Given the description of an element on the screen output the (x, y) to click on. 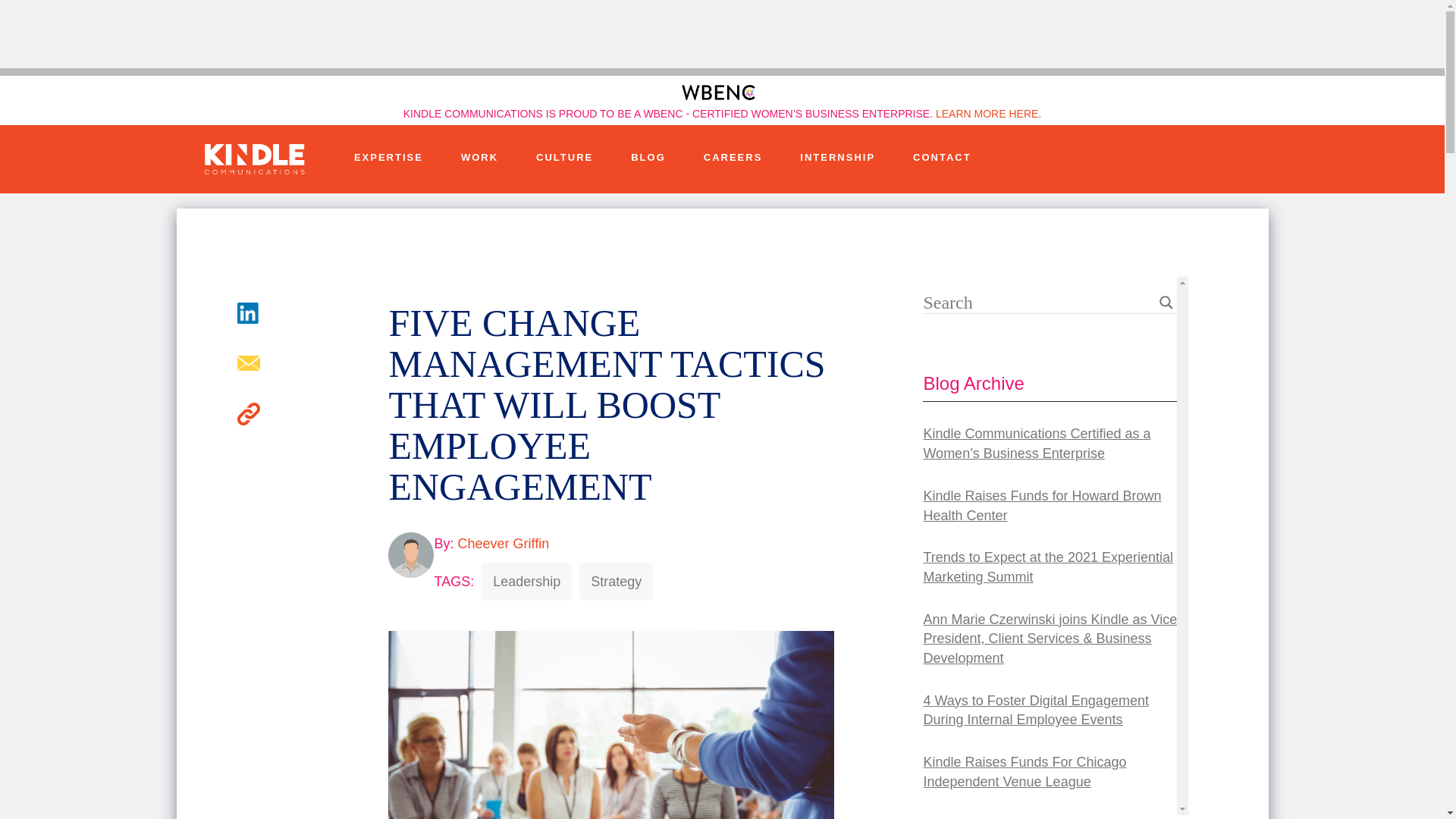
Kindle Raises Funds for Howard Brown Health Center (1049, 505)
CULTURE (564, 157)
BLOG (648, 157)
CONTACT (941, 157)
Leadership (526, 581)
Cheever Griffin (502, 543)
EXPERTISE (387, 157)
CONTACT (941, 157)
WORK (479, 157)
Strategy (615, 581)
Trends to Expect at the 2021 Experiential Marketing Summit (1049, 567)
INTERNSHIP (837, 157)
WORK (479, 157)
BLOG (648, 157)
